Given the description of an element on the screen output the (x, y) to click on. 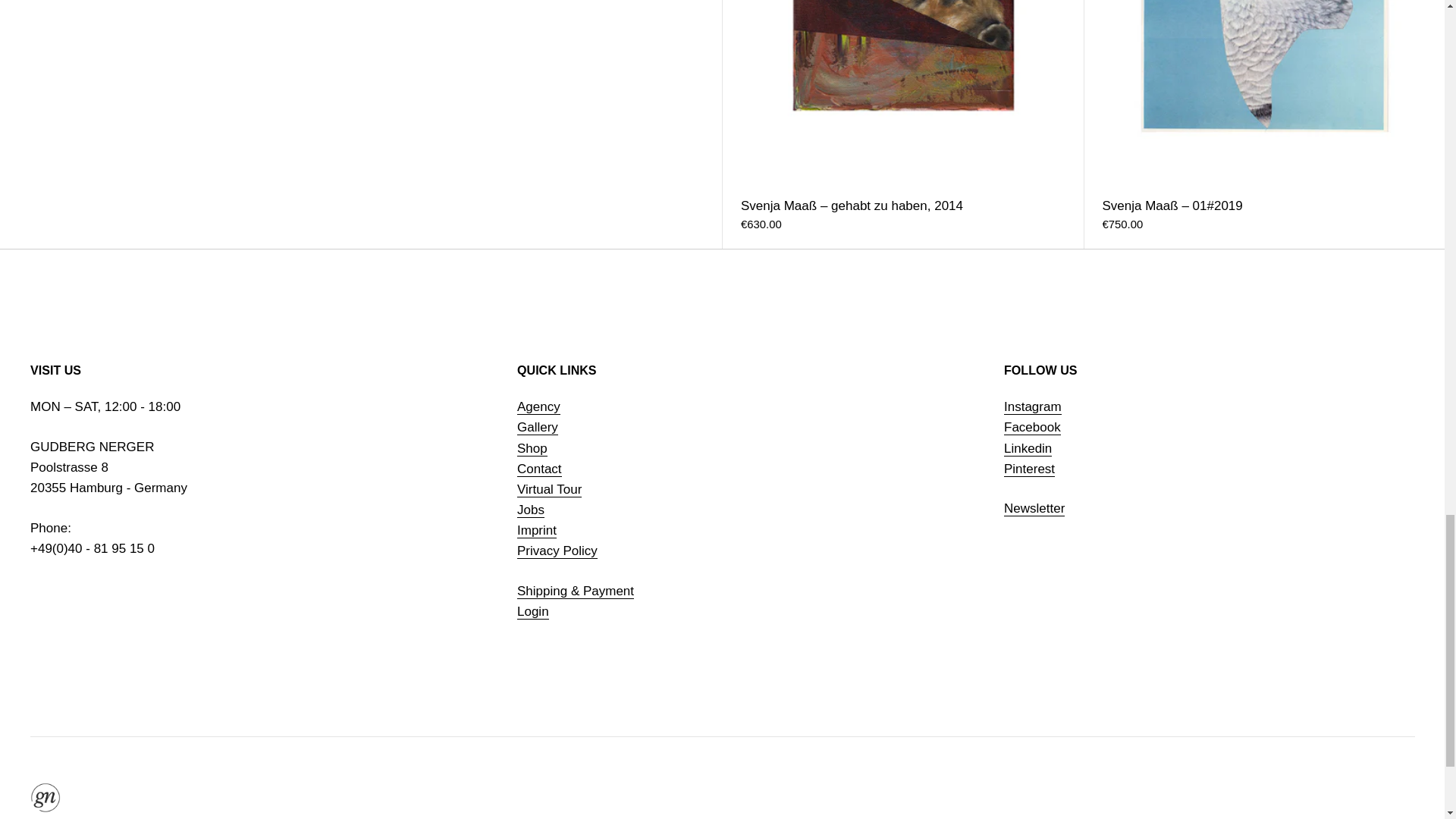
Agency (538, 406)
